Given the description of an element on the screen output the (x, y) to click on. 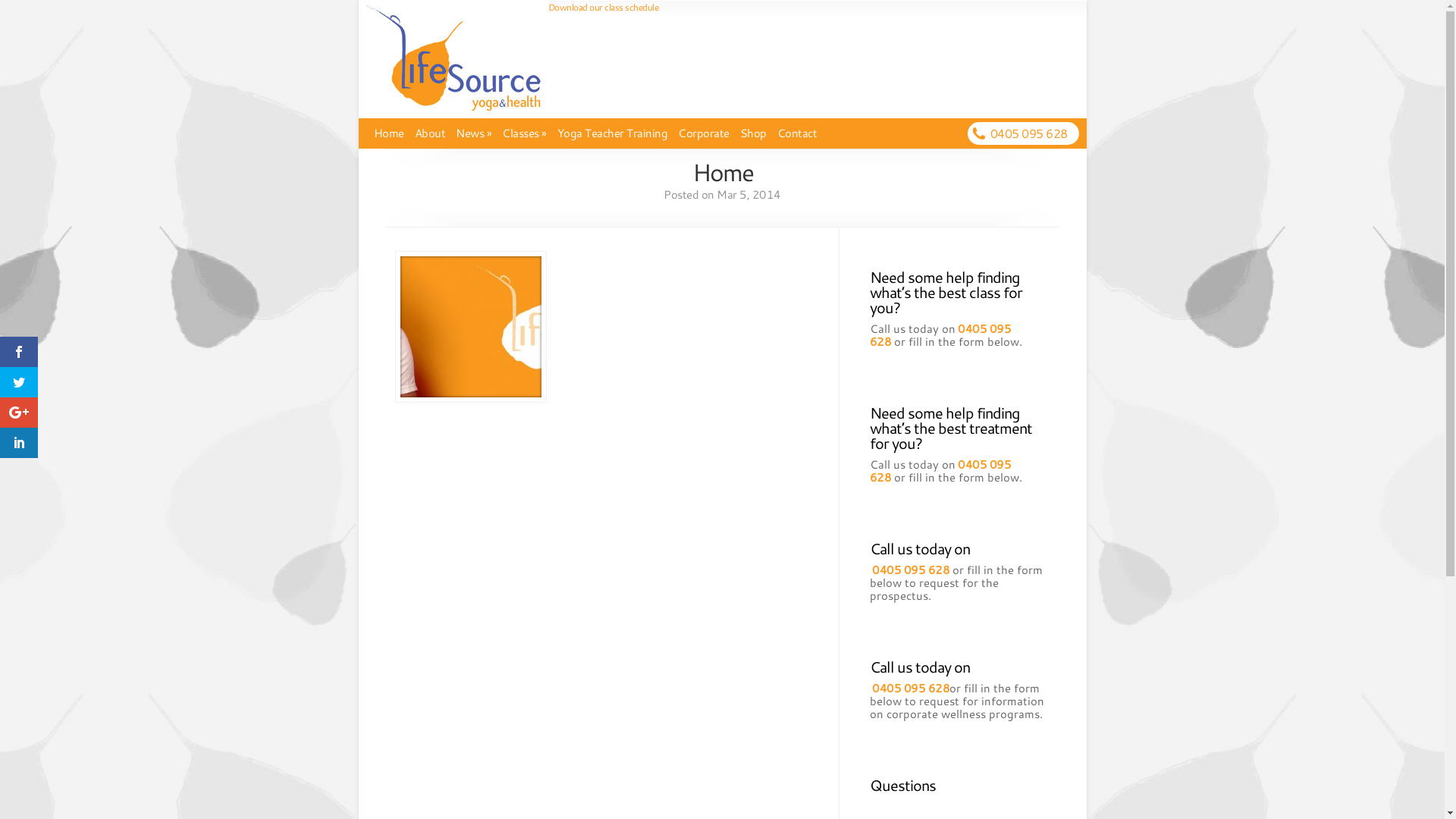
Yoga Teacher Training Element type: text (611, 133)
News Element type: text (473, 133)
0405 095 628 Element type: text (939, 470)
About Element type: text (429, 133)
Download our class schedule Element type: text (602, 6)
Shop Element type: text (753, 133)
Home Element type: text (388, 133)
0405 095 628 Element type: text (939, 334)
0405 095 628 Element type: text (910, 688)
0405 095 628 Element type: text (910, 569)
Contact Element type: text (796, 133)
0405 095 628 Element type: text (1028, 133)
Classes Element type: text (524, 133)
Corporate Element type: text (703, 133)
